Given the description of an element on the screen output the (x, y) to click on. 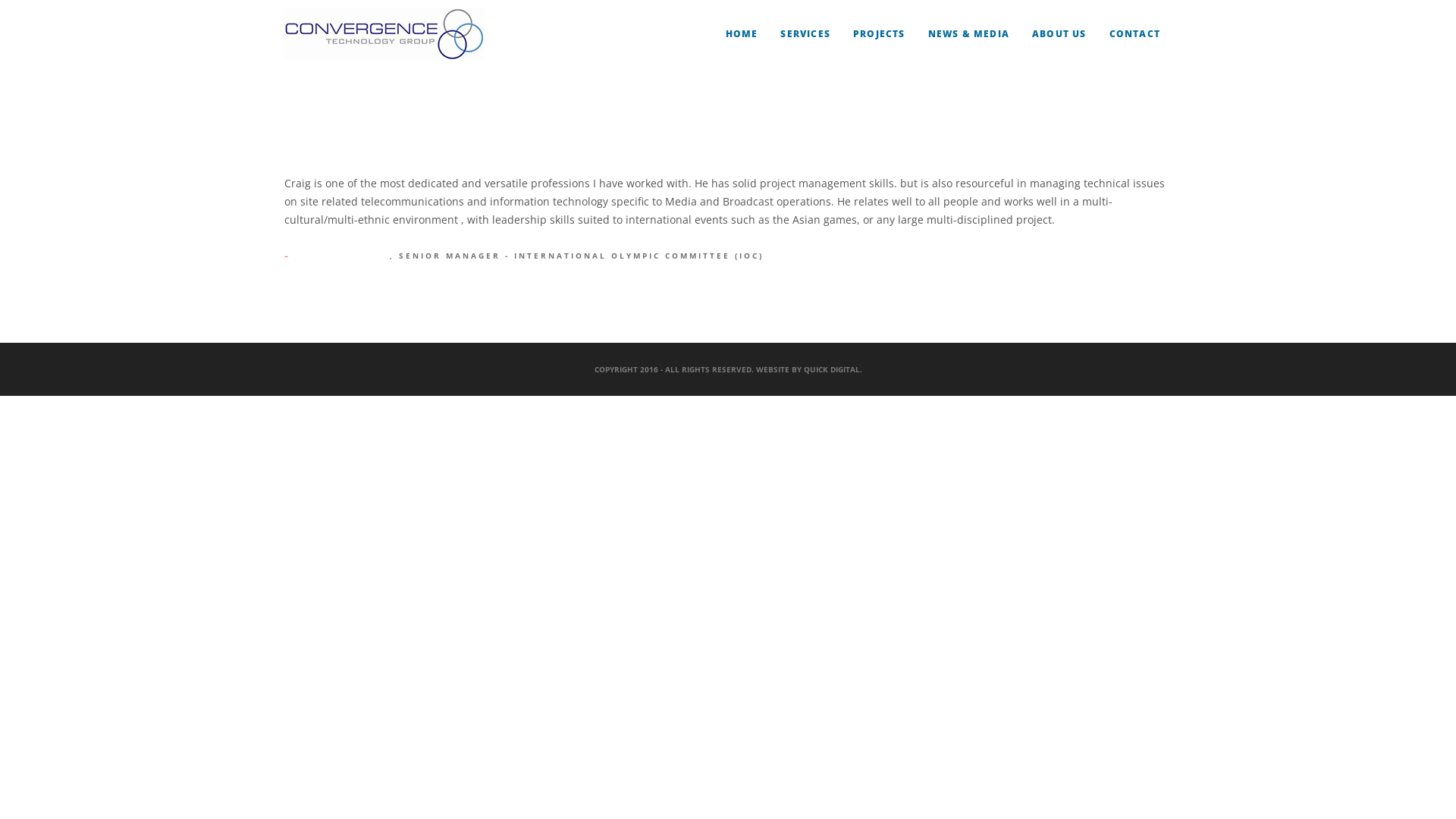
HOME Element type: text (741, 34)
NEWS & MEDIA Element type: text (968, 34)
PROJECTS Element type: text (879, 34)
QUICK DIGITAL Element type: text (831, 369)
Convergence Technology Element type: hover (384, 33)
CONTACT Element type: text (1134, 34)
ABOUT US Element type: text (1059, 34)
SERVICES Element type: text (805, 34)
